Given the description of an element on the screen output the (x, y) to click on. 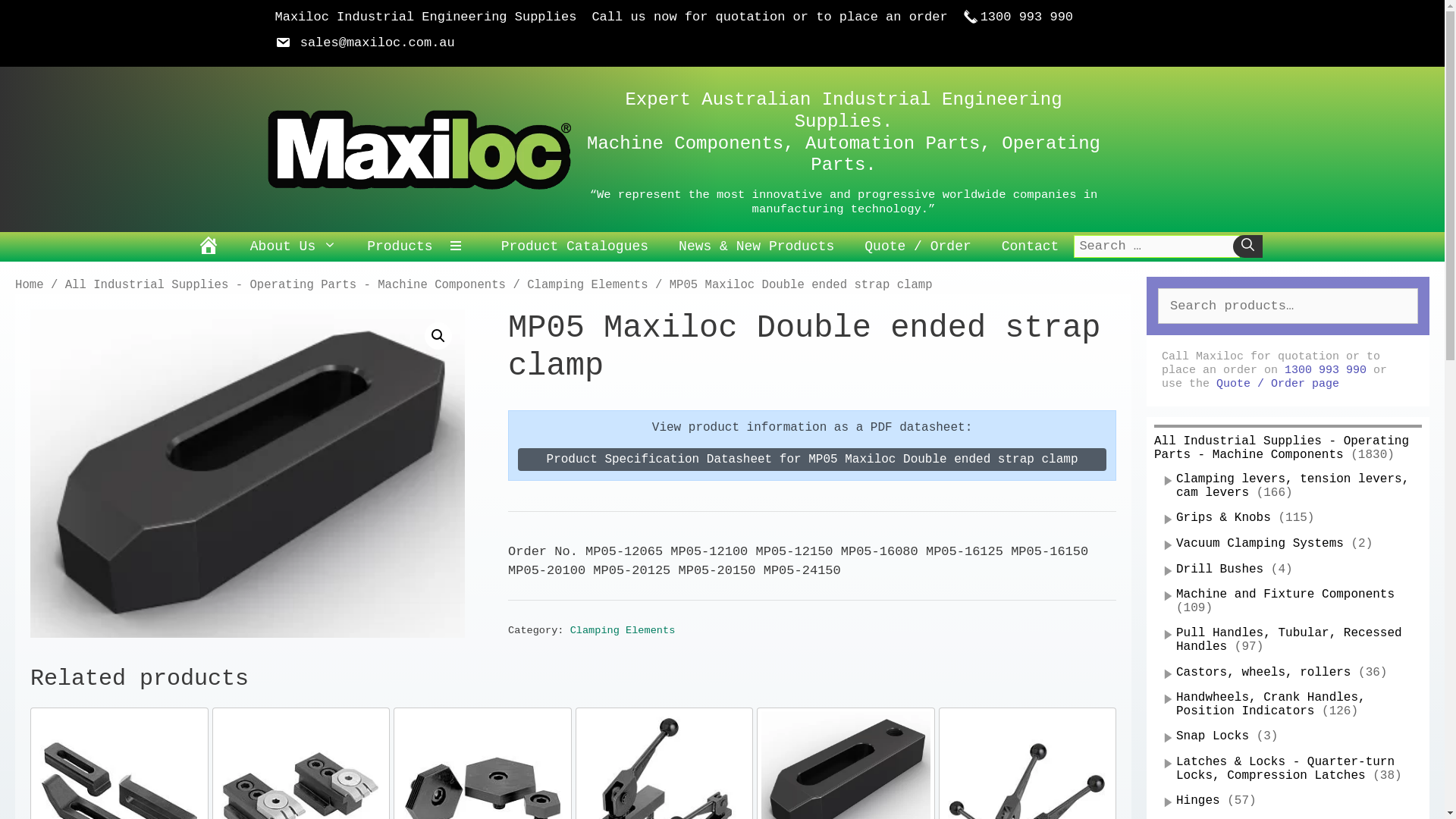
Product Catalogues Element type: text (574, 246)
Search Element type: text (39, 18)
Grips & Knobs Element type: text (1223, 517)
Products Element type: text (399, 246)
Latches & Locks - Quarter-turn Locks, Compression Latches Element type: text (1285, 768)
1300 993 990 Element type: text (1325, 370)
Vacuum Clamping Systems Element type: text (1259, 543)
Handwheels, Crank Handles, Position Indicators Element type: text (1270, 704)
Clamping levers, tension levers, cam levers Element type: text (1292, 485)
Clamping Elements Element type: text (587, 284)
News & New Products Element type: text (756, 246)
MP05 Maxiloc Double ended strap clamp Element type: hover (247, 473)
Drill Bushes Element type: text (1219, 569)
Pull Handles, Tubular, Recessed Handles Element type: text (1289, 639)
sales@maxiloc.com.au Element type: text (364, 42)
About Us Element type: text (293, 246)
Product List Element type: text (459, 246)
Clamping Elements Element type: text (622, 630)
Quote / Order page Element type: text (1277, 383)
Home Element type: text (29, 284)
Castors, wheels, rollers Element type: text (1263, 672)
1300 993 990 Element type: text (1018, 16)
Machine and Fixture Components Element type: text (1285, 594)
Hinges Element type: text (1198, 800)
Quote / Order Element type: text (917, 246)
Home Element type: text (208, 246)
Search for: Element type: hover (1156, 246)
Snap Locks Element type: text (1212, 736)
Contact Element type: text (1030, 246)
